Given the description of an element on the screen output the (x, y) to click on. 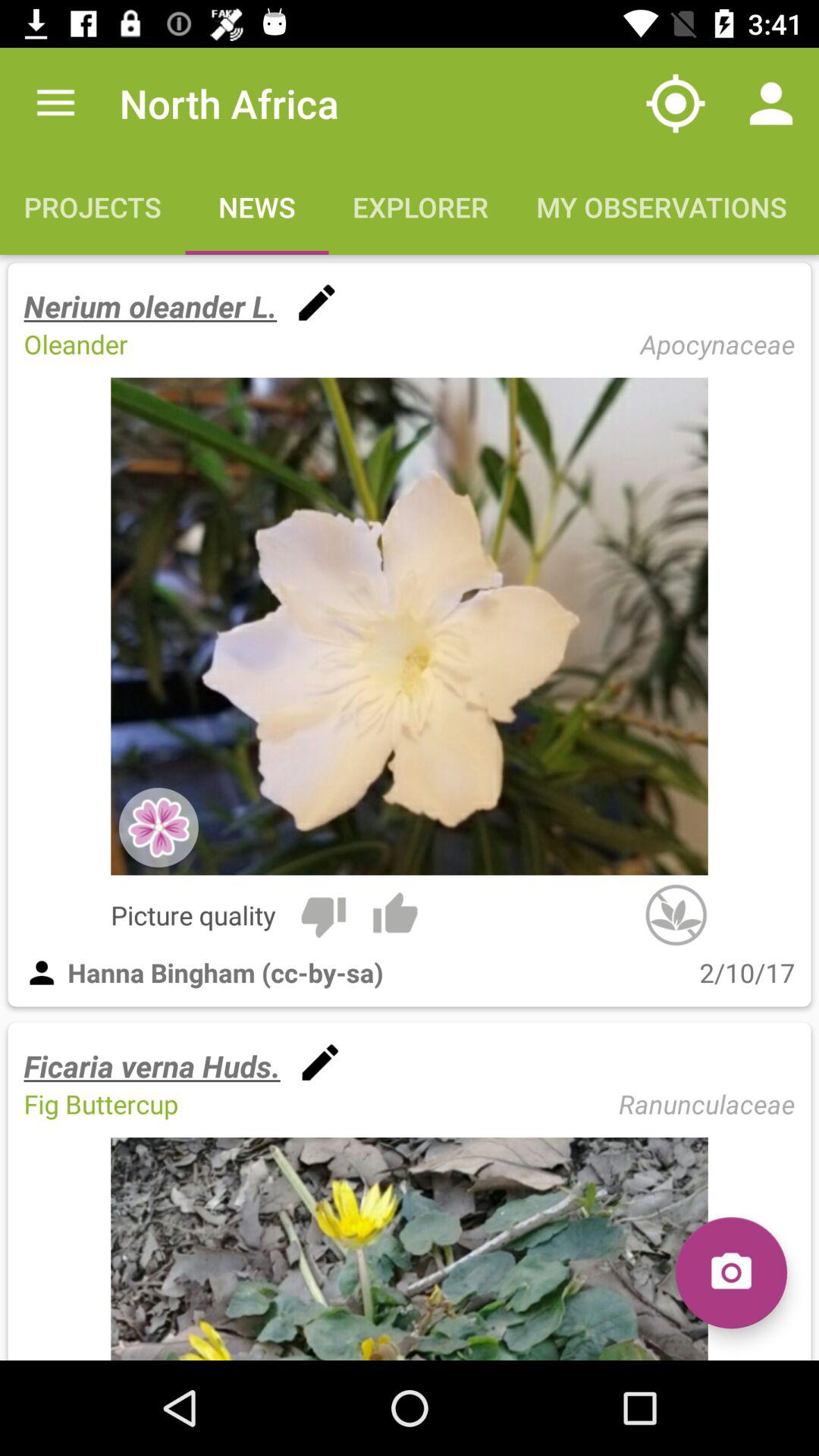
turn on item to the left of the north africa app (55, 103)
